Given the description of an element on the screen output the (x, y) to click on. 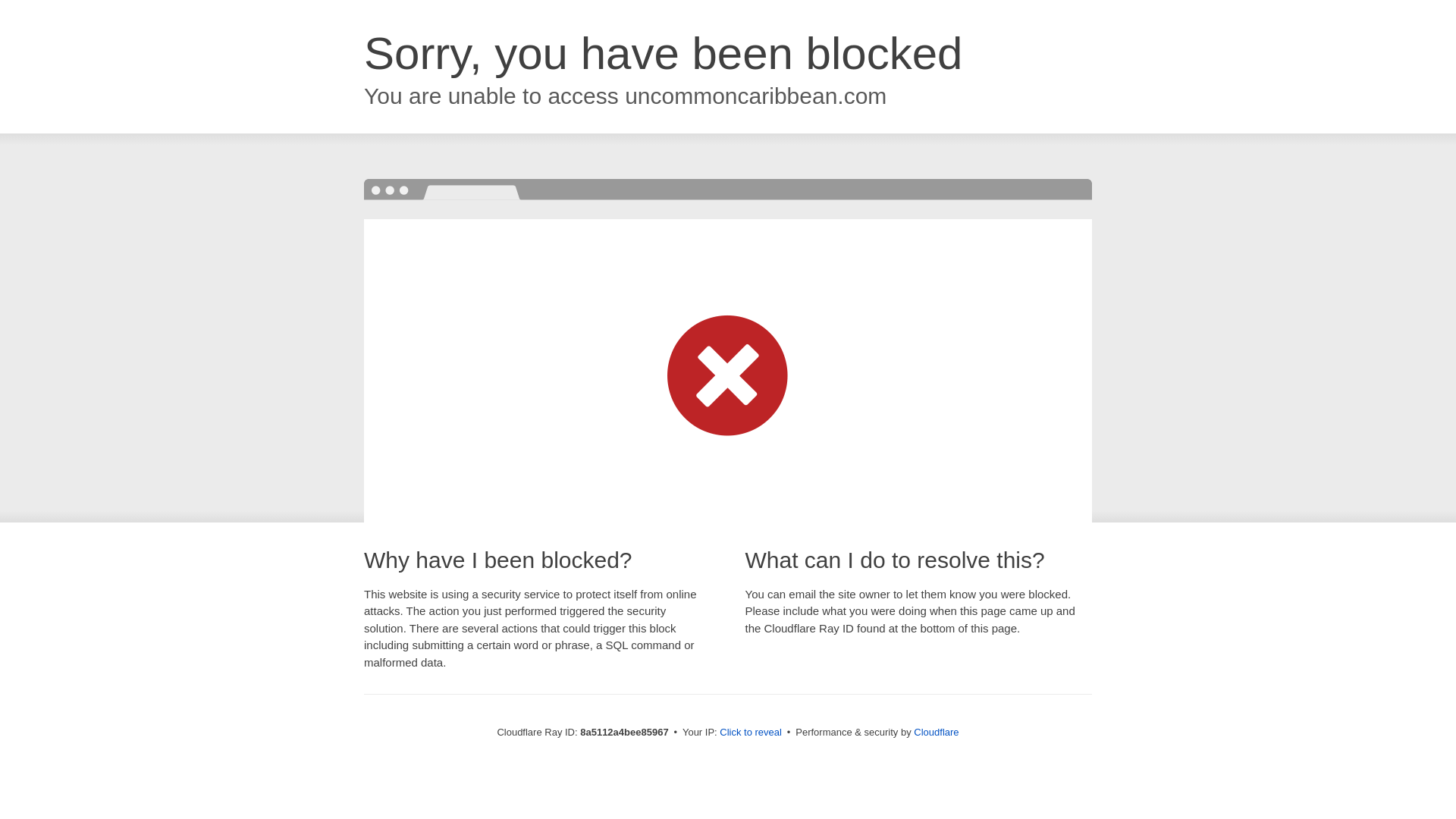
Click to reveal (750, 732)
Cloudflare (936, 731)
